Given the description of an element on the screen output the (x, y) to click on. 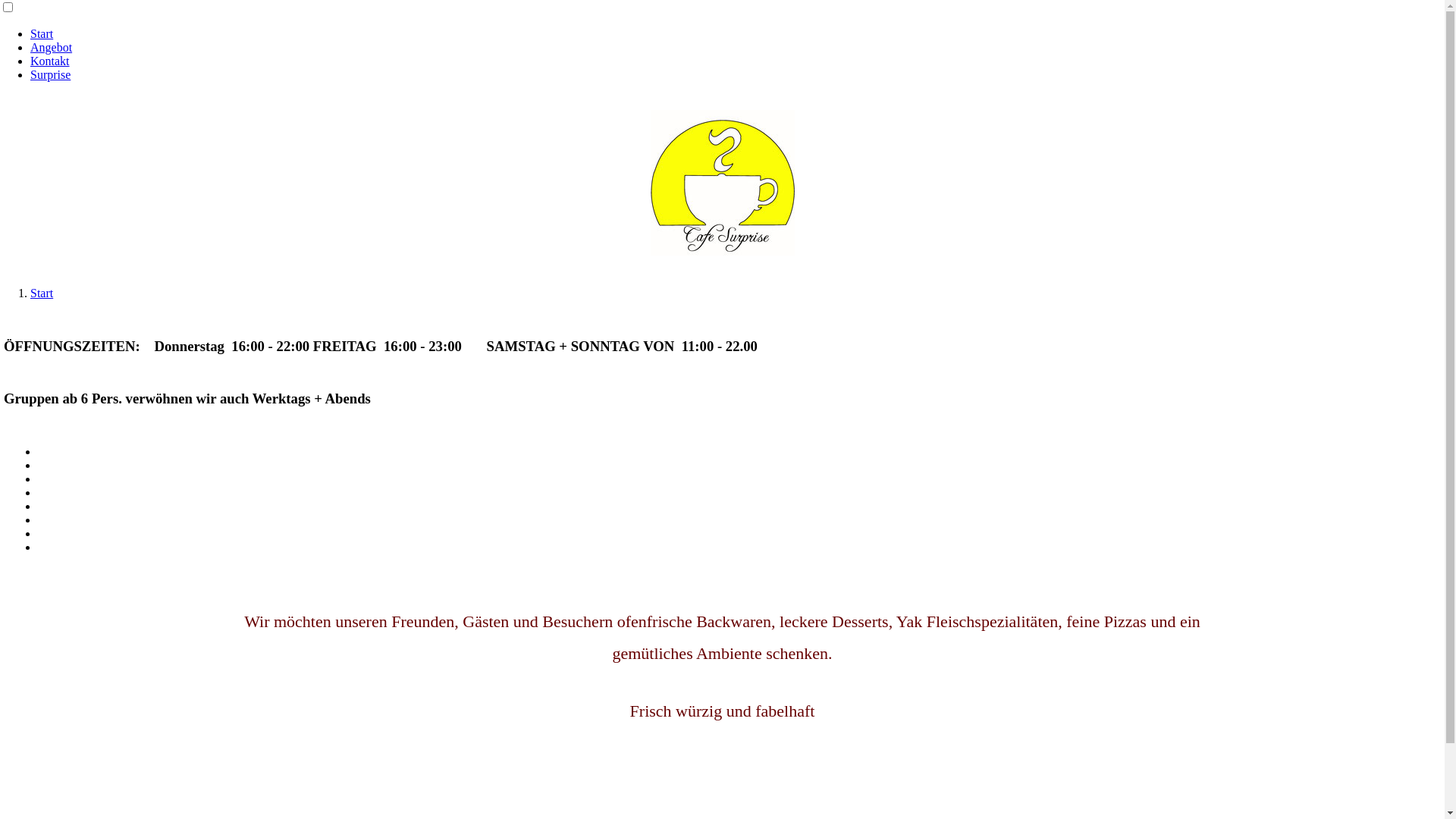
Kontakt Element type: text (49, 60)
Surprise Element type: text (50, 74)
Angebot Element type: text (51, 46)
Start Element type: text (41, 33)
Start Element type: text (41, 292)
